Given the description of an element on the screen output the (x, y) to click on. 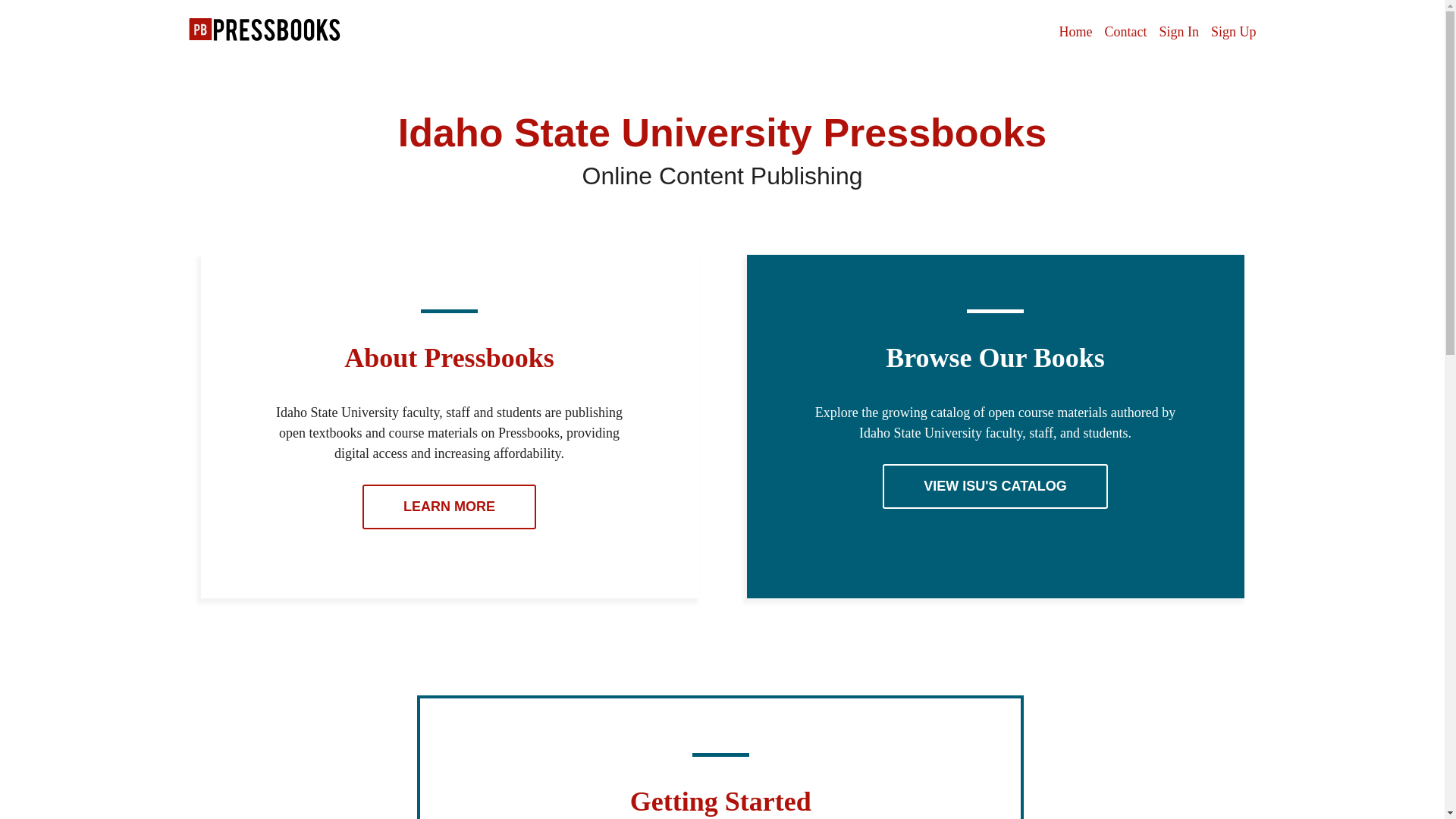
LEARN MORE (448, 506)
Home (1075, 31)
View ISU's Catalog (995, 486)
Idaho State University Pressbooks (263, 35)
Learn More (448, 506)
VIEW ISU'S CATALOG (995, 486)
Contact (1125, 31)
Sign In (1178, 31)
Sign Up (1233, 31)
